Given the description of an element on the screen output the (x, y) to click on. 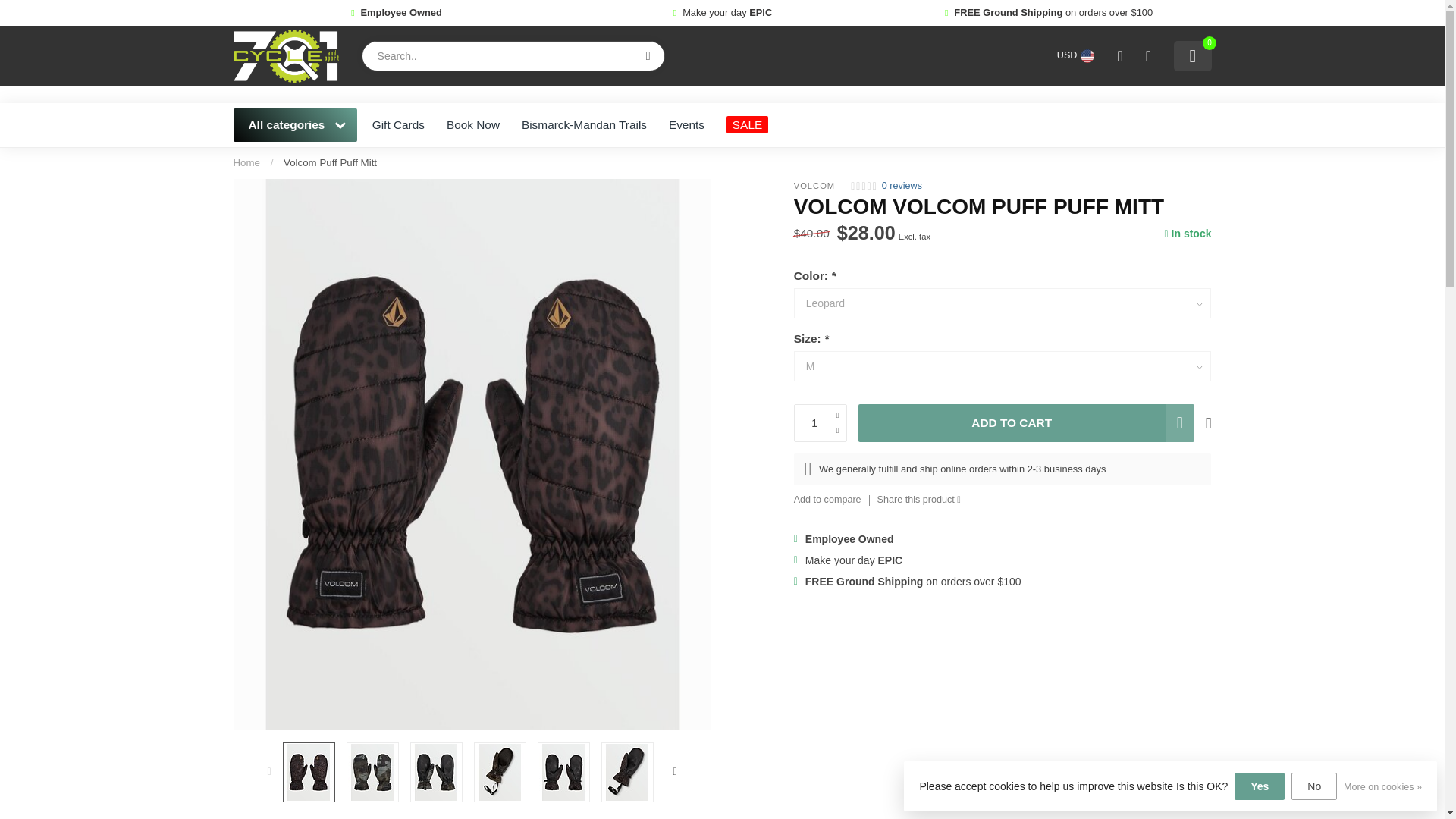
Wish List (1147, 55)
1 (1060, 244)
Home (246, 162)
My account (1119, 55)
1 (820, 423)
0 (1192, 55)
Gift Cards Book Now Bismarck-Mandan Trails Events SALE (785, 124)
